Given the description of an element on the screen output the (x, y) to click on. 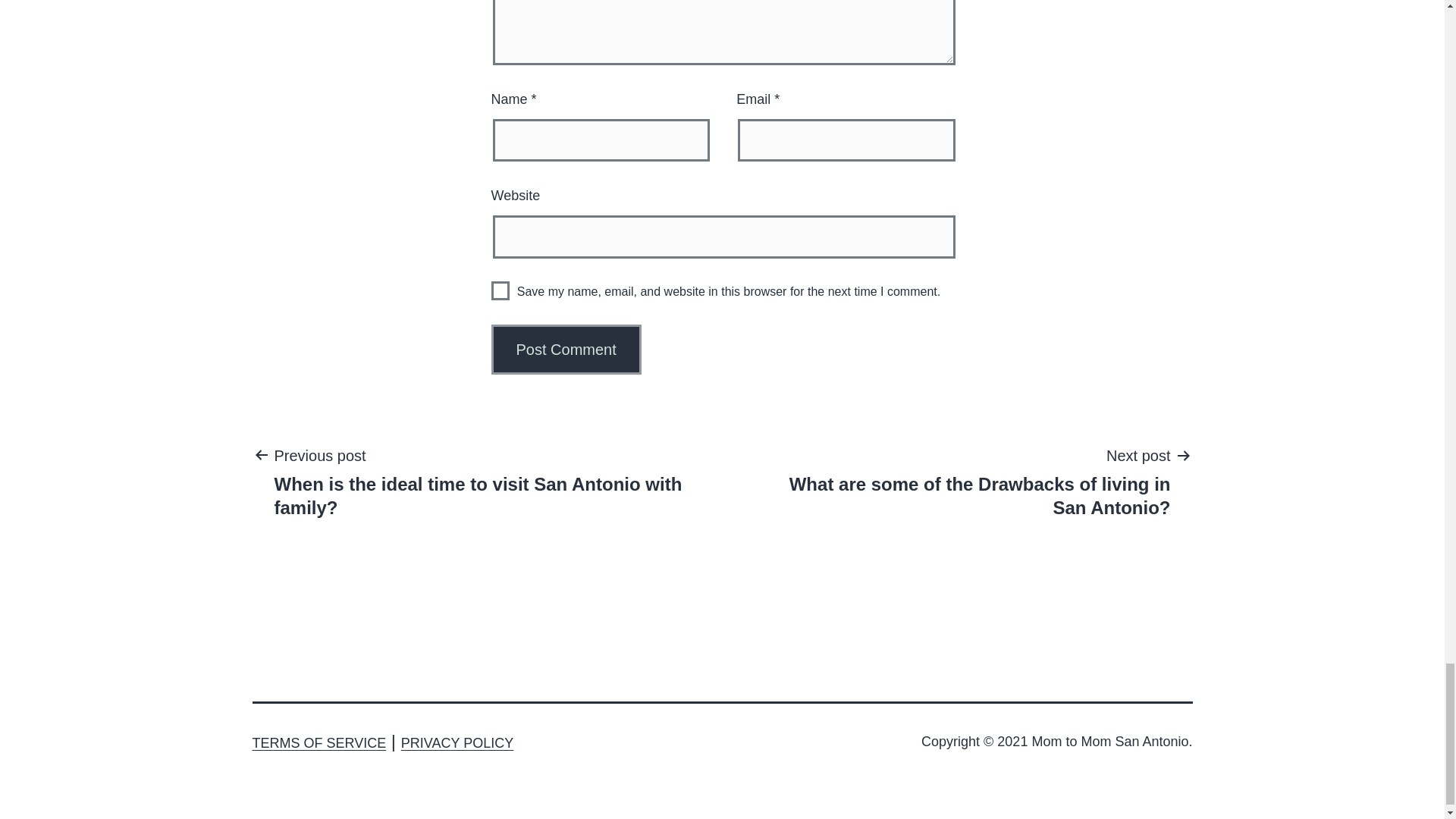
Post Comment (567, 349)
PRIVACY POLICY (457, 743)
TERMS OF SERVICE (318, 743)
Post Comment (567, 349)
yes (500, 290)
